Given the description of an element on the screen output the (x, y) to click on. 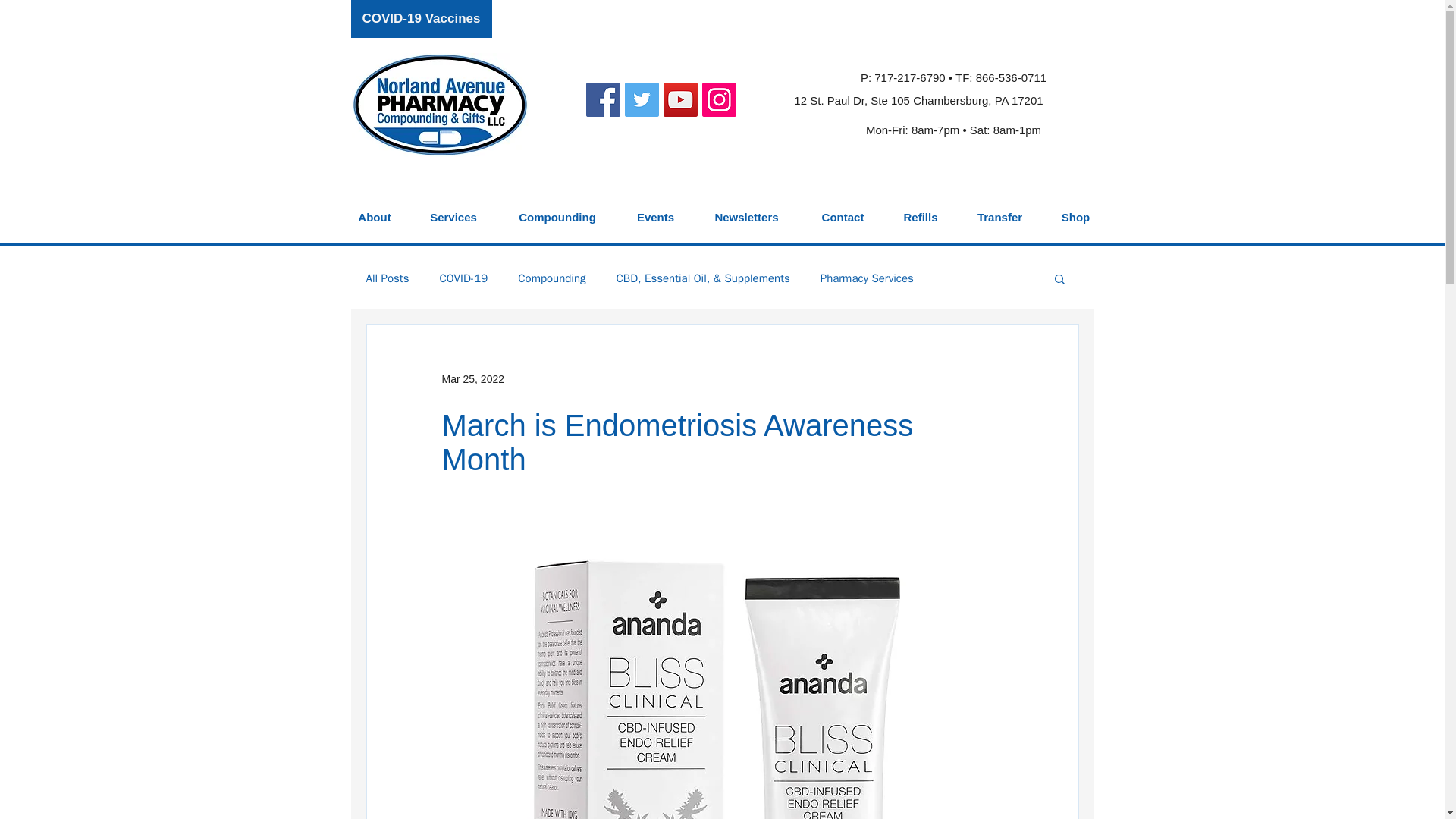
Refills (920, 210)
Events (655, 210)
About (373, 210)
Contact (842, 210)
Newsletters (746, 210)
Services (453, 210)
COVID-19 (463, 278)
Compounding (556, 210)
Transfer (999, 210)
12 St. Paul Dr, Ste 105 Chambersburg, PA 17201 (917, 98)
866-536-0711 (1010, 77)
Compounding (551, 278)
Mar 25, 2022 (472, 378)
Shop (1074, 210)
COVID-19 Vaccines (421, 18)
